Given the description of an element on the screen output the (x, y) to click on. 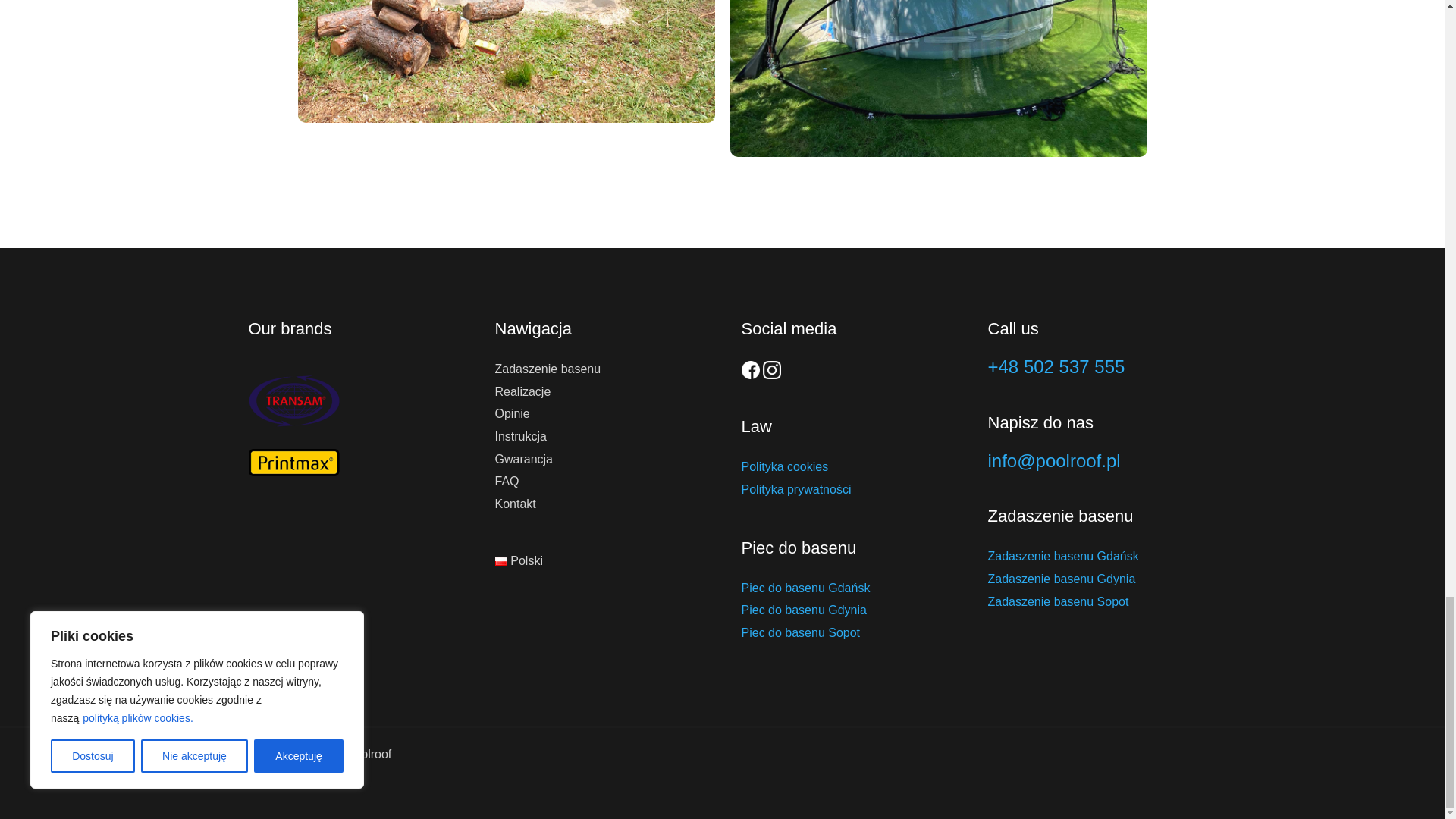
Instrukcja (520, 436)
Zadaszenie basenu (547, 368)
Gwarancja (523, 459)
Opinie (512, 413)
Realizacje (522, 391)
